Given the description of an element on the screen output the (x, y) to click on. 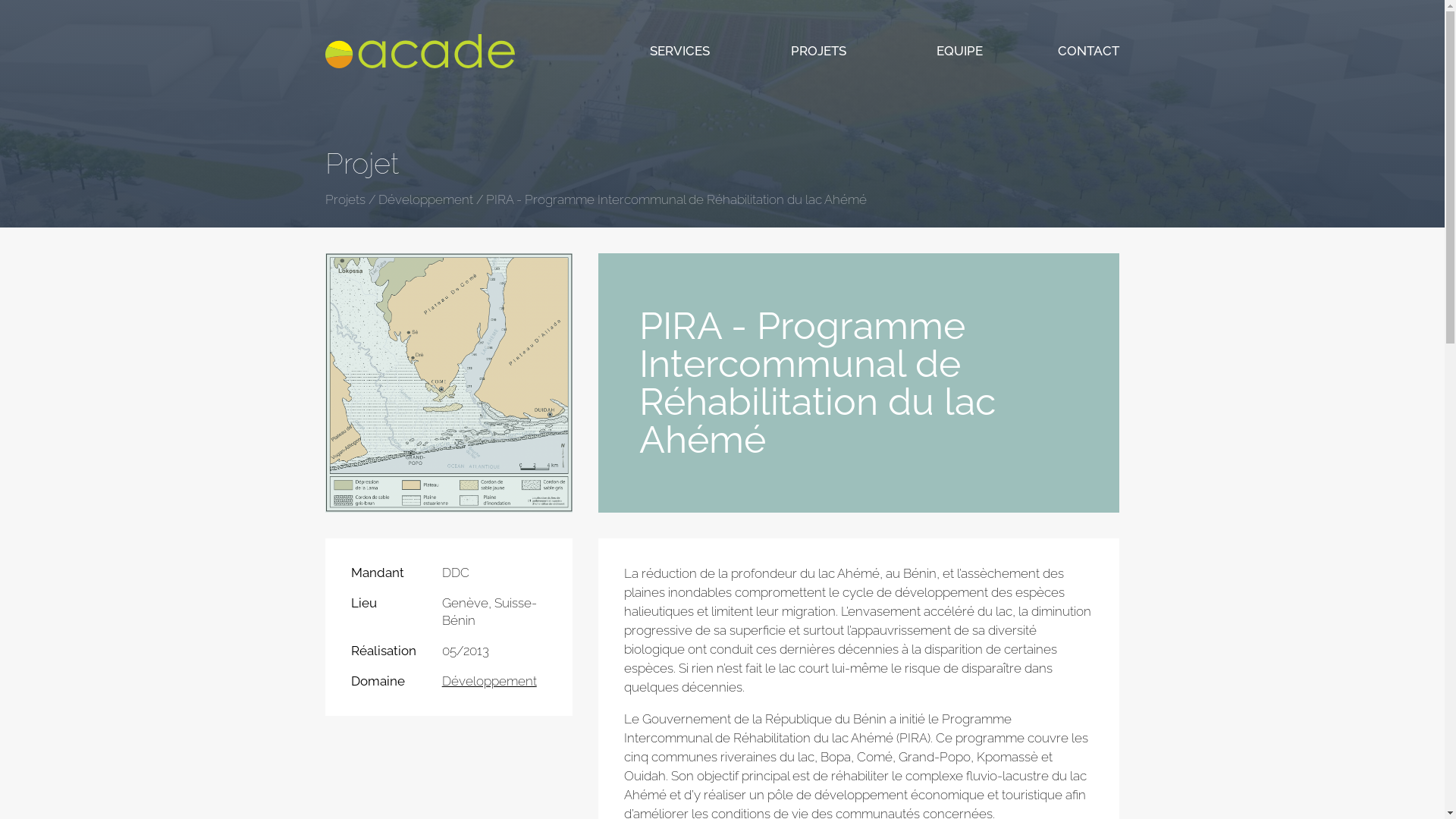
CONTACT Element type: text (1088, 50)
SERVICES Element type: text (679, 50)
EQUIPE Element type: text (959, 50)
PROJETS Element type: text (818, 50)
Projets Element type: text (345, 198)
